Given the description of an element on the screen output the (x, y) to click on. 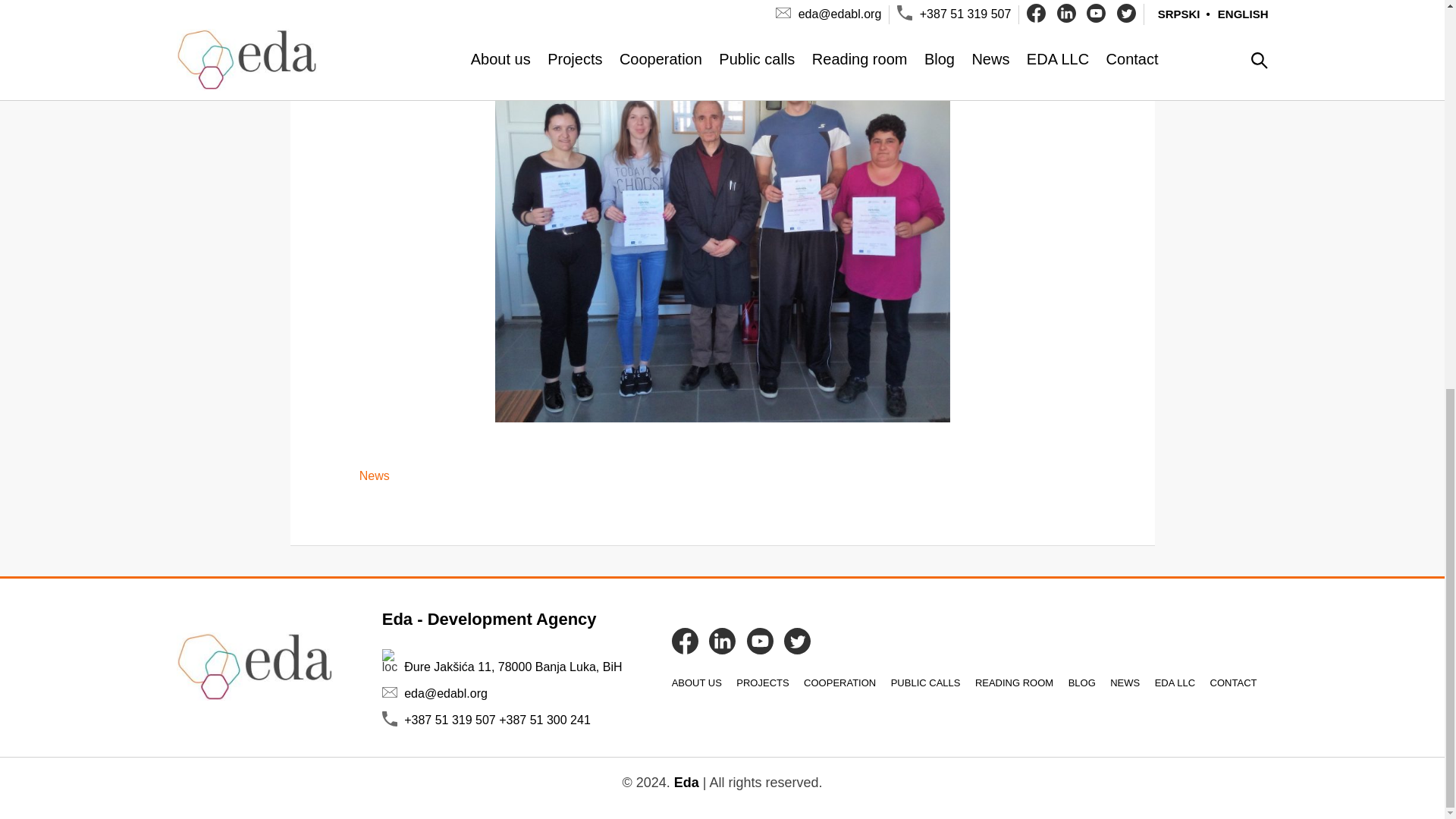
News (374, 475)
